Given the description of an element on the screen output the (x, y) to click on. 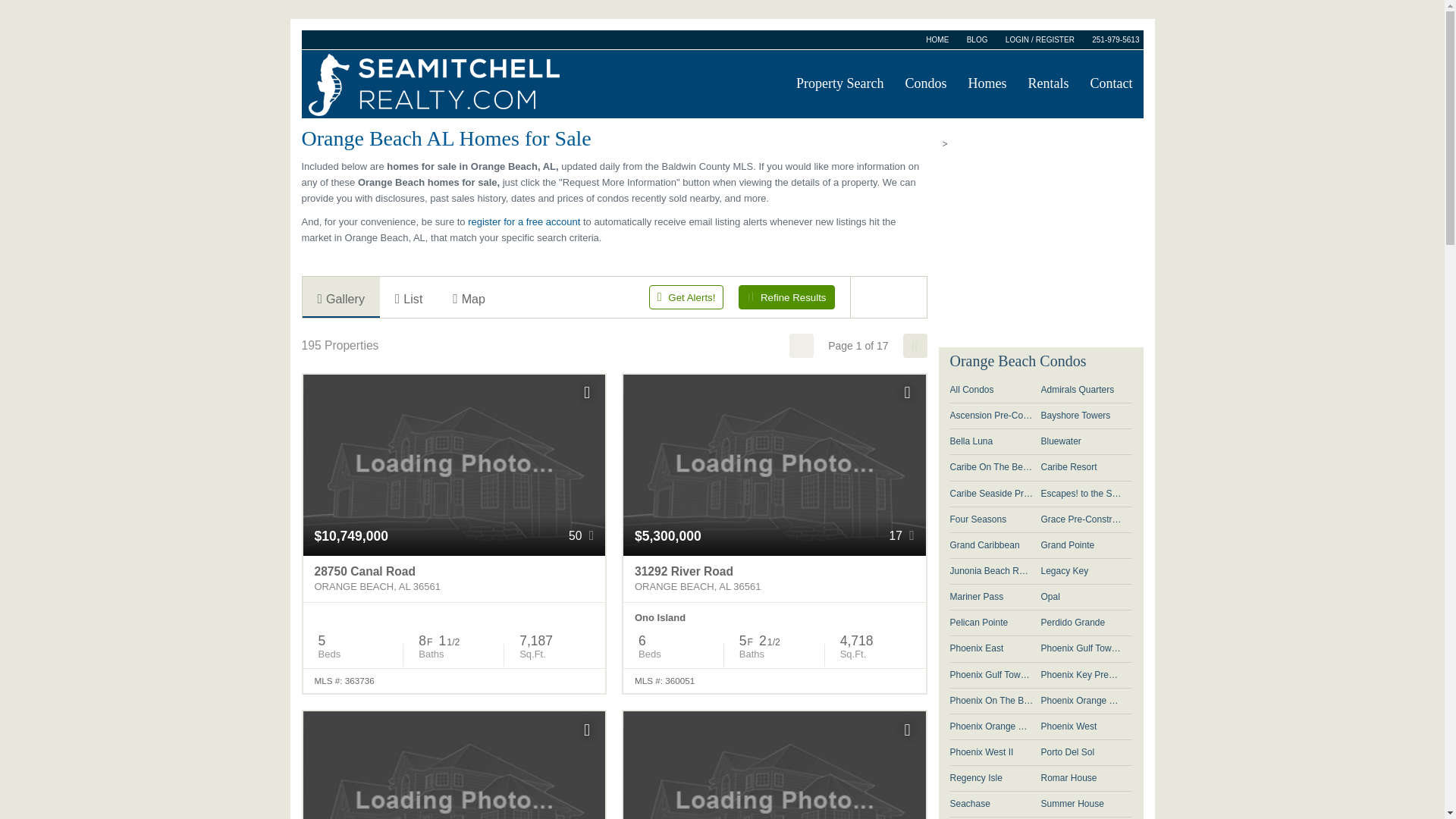
Contact (1111, 83)
Rentals (1048, 83)
251-979-5613 (1115, 40)
View Bayshore Towers (1086, 415)
28750 Canal Road Orange Beach,  AL 36561 (453, 579)
HOME (937, 40)
View Caribe Resort (1086, 466)
View Caribe Seaside Pre-Construction Condos (995, 493)
View Bella Luna (995, 441)
View Admirals Quarters (1086, 389)
Condos (924, 83)
Refine Results (774, 579)
View Bluewater  (786, 297)
BLOG (1086, 441)
